Given the description of an element on the screen output the (x, y) to click on. 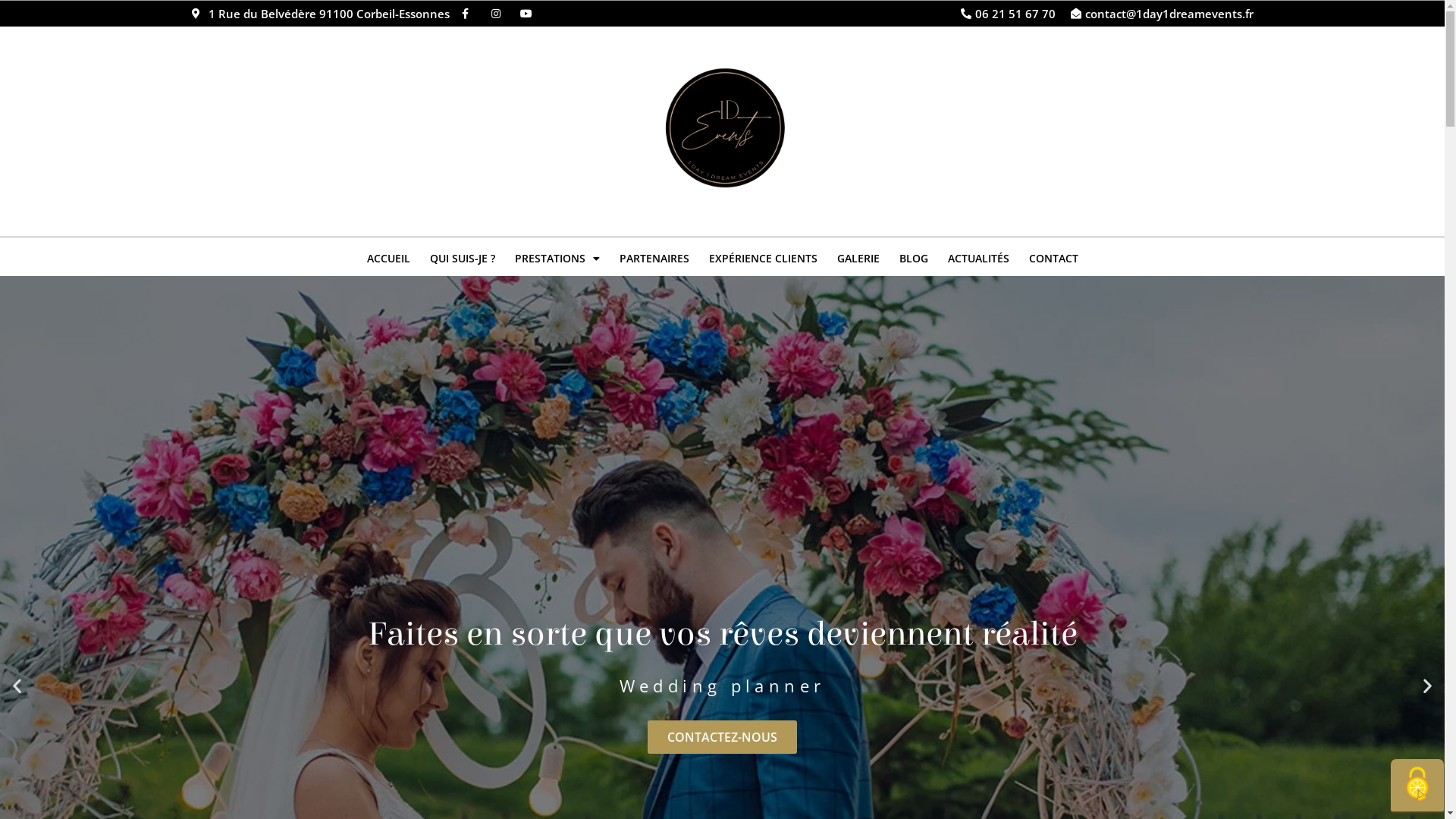
BLOG Element type: text (912, 258)
contact@1day1dreamevents.fr Element type: text (1160, 13)
ACCUEIL Element type: text (387, 258)
06 21 51 67 70 Element type: text (1007, 13)
QUI SUIS-JE ? Element type: text (462, 258)
PARTENAIRES Element type: text (654, 258)
PRESTATIONS Element type: text (557, 258)
CONTACT Element type: text (1053, 258)
GALERIE Element type: text (857, 258)
